Given the description of an element on the screen output the (x, y) to click on. 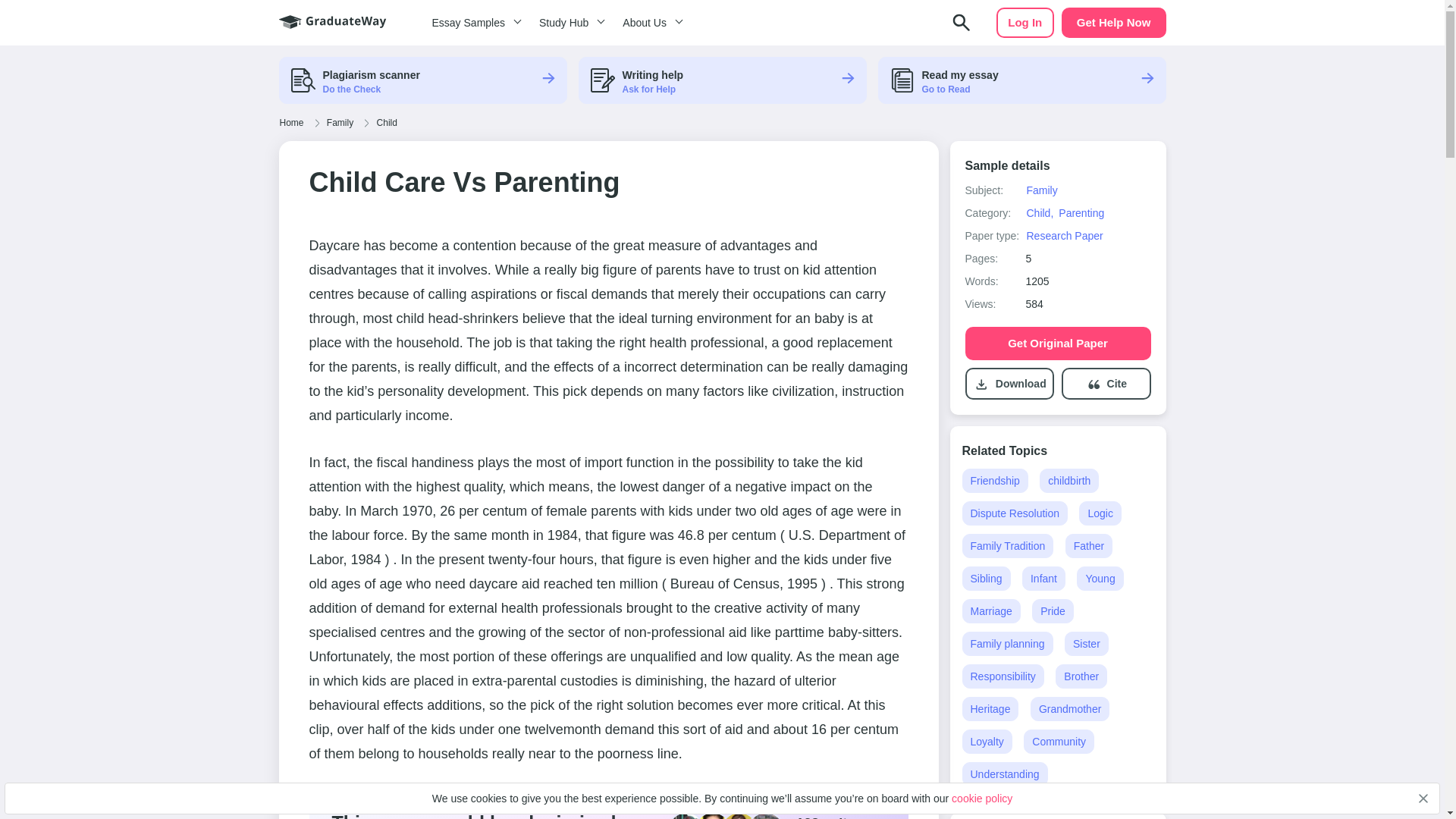
Essay Samples (473, 22)
About Us (649, 22)
Child, (1039, 213)
Cite (1116, 383)
Parenting (1081, 213)
Home (291, 122)
Study Hub (569, 22)
Family (1041, 190)
Family (339, 122)
Child (386, 122)
